Given the description of an element on the screen output the (x, y) to click on. 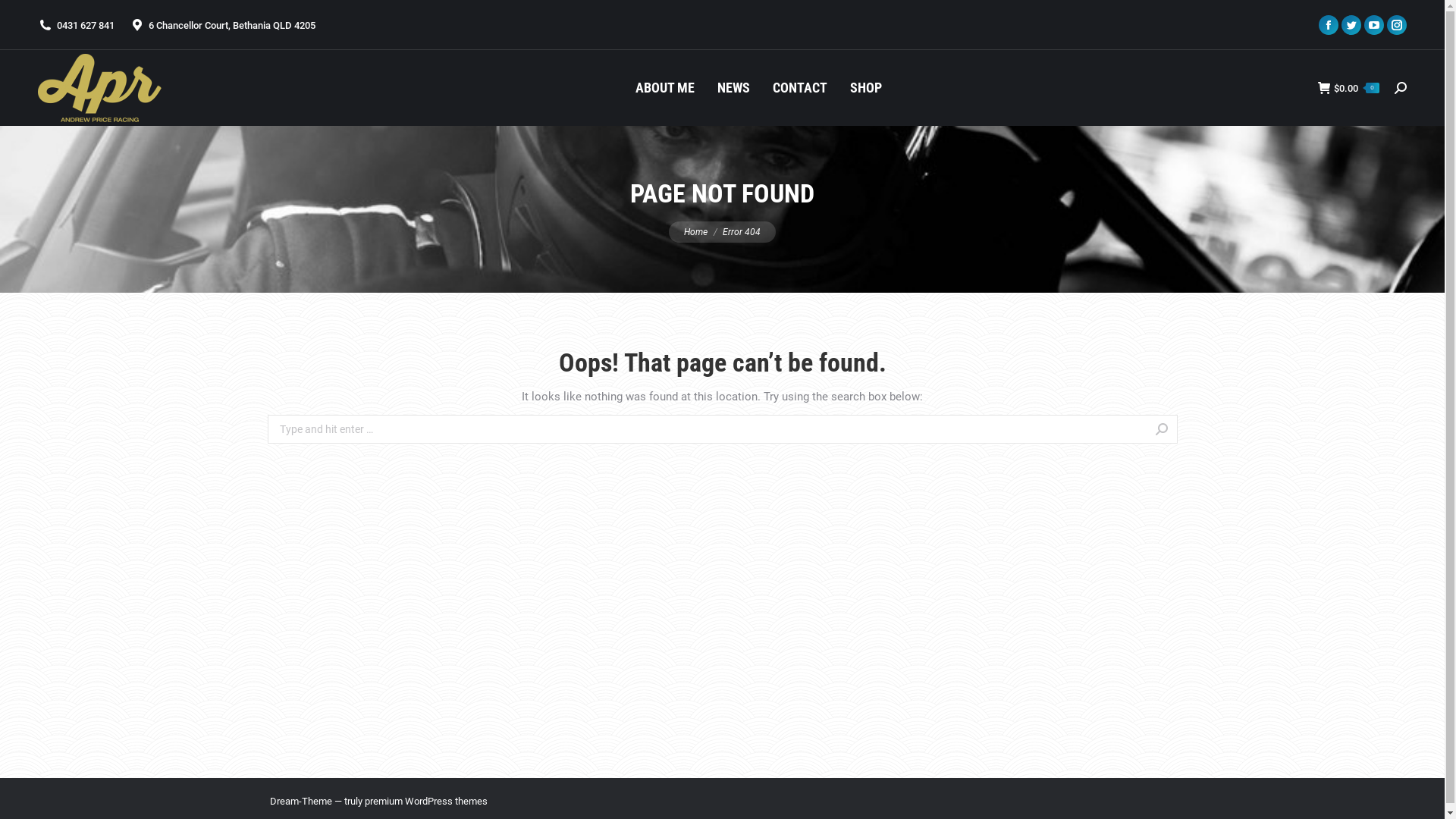
Instagram page opens in new window Element type: text (1396, 24)
Facebook page opens in new window Element type: text (1328, 24)
NEWS Element type: text (733, 87)
$0.00
0 Element type: text (1348, 87)
ABOUT ME Element type: text (664, 87)
CONTACT Element type: text (799, 87)
Twitter page opens in new window Element type: text (1351, 24)
Go! Element type: text (1208, 430)
Home Element type: text (695, 230)
premium WordPress themes Element type: text (425, 800)
SHOP Element type: text (865, 87)
YouTube page opens in new window Element type: text (1373, 24)
Go! Element type: text (31, 15)
